Given the description of an element on the screen output the (x, y) to click on. 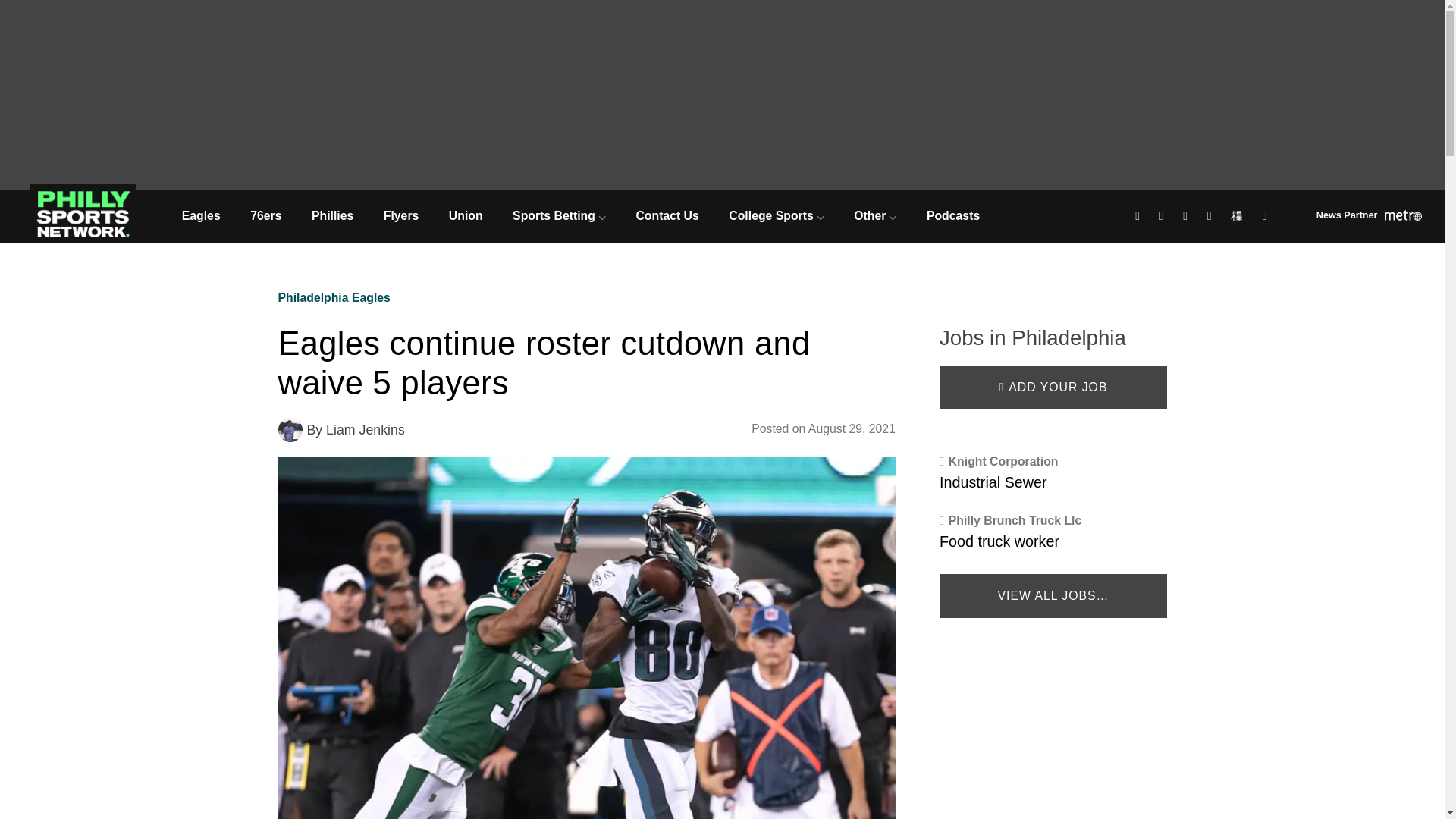
Podcasts (952, 215)
Union (465, 215)
Other (876, 215)
Sports Betting (558, 215)
News Partner (1369, 216)
76ers (265, 215)
Phillies (332, 215)
Eagles (200, 215)
Flyers (400, 215)
College Sports (777, 215)
